Given the description of an element on the screen output the (x, y) to click on. 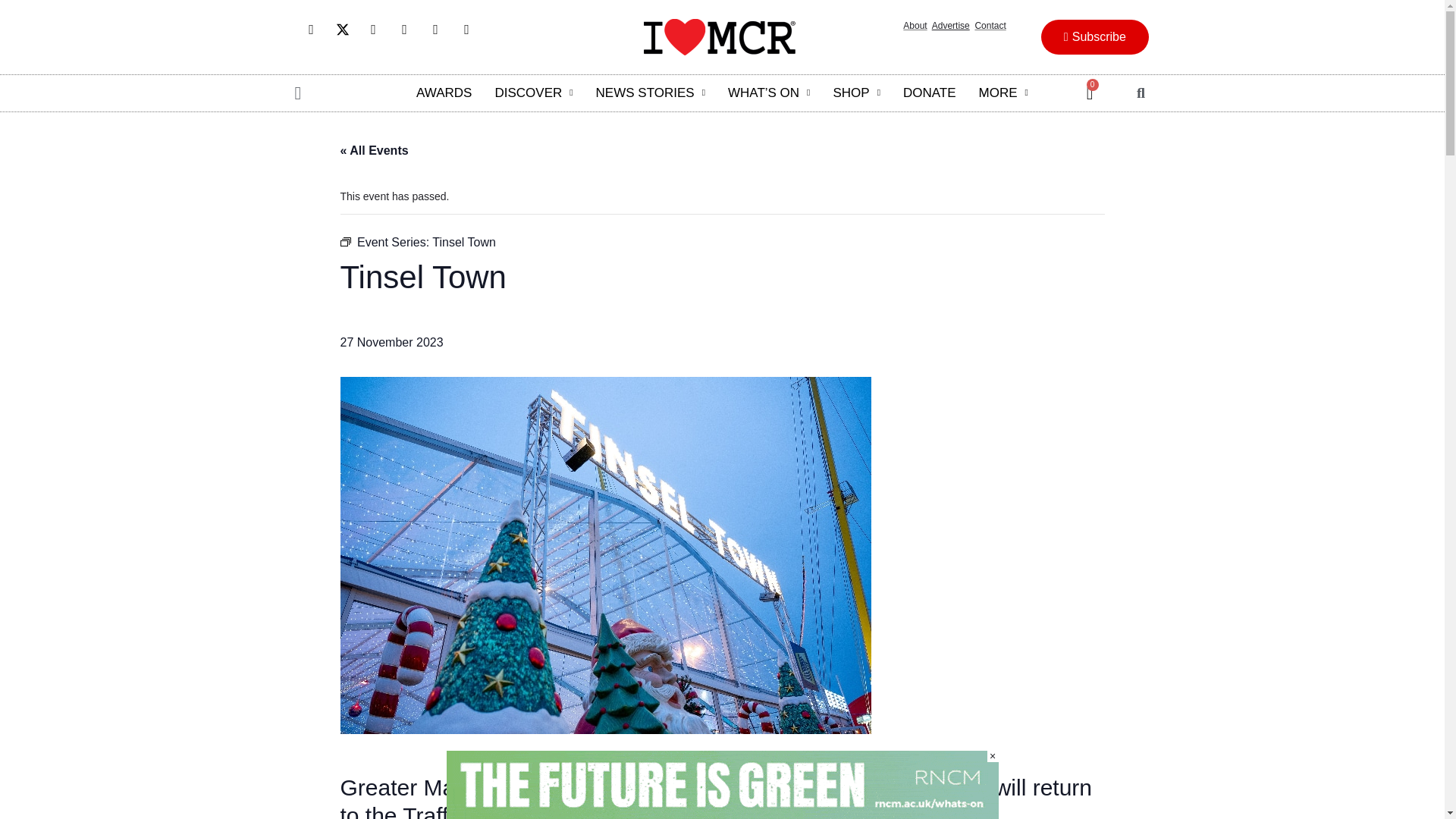
AWARDS (443, 93)
Contact (990, 25)
ilovemcr-website-logo 544 (718, 36)
About (914, 25)
Event Series (344, 241)
Subscribe (1094, 36)
DISCOVER (533, 93)
Advertise (950, 25)
